Given the description of an element on the screen output the (x, y) to click on. 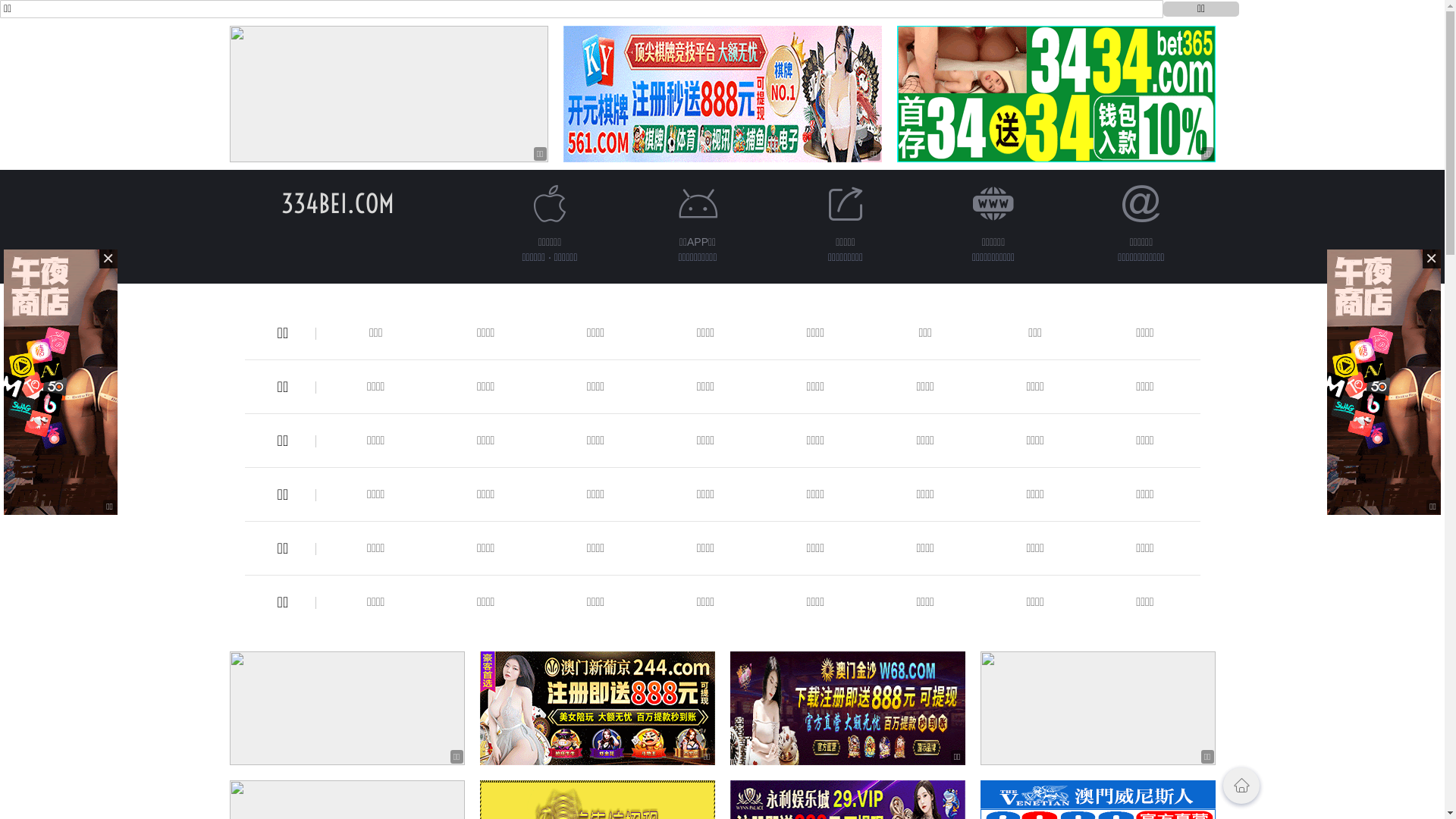
334BEI.COM Element type: text (337, 203)
